Given the description of an element on the screen output the (x, y) to click on. 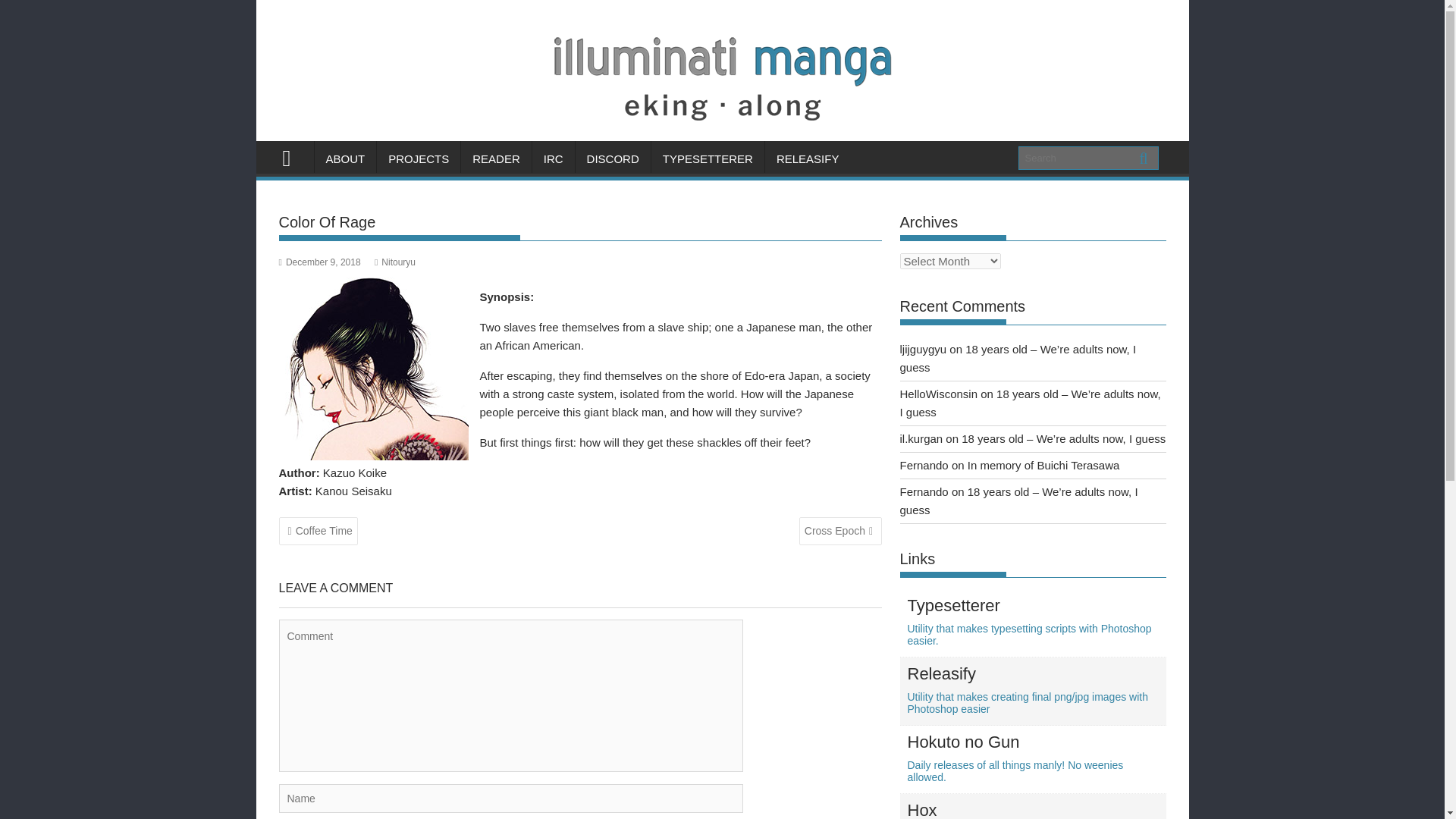
Thank You 17 (764, 297)
Nitouryu (394, 262)
Illuminati-Manga (722, 131)
ABOUT (344, 158)
RELEASIFY (807, 158)
Coffee Time (1034, 810)
READER (318, 530)
Cross Epoch (496, 158)
